Given the description of an element on the screen output the (x, y) to click on. 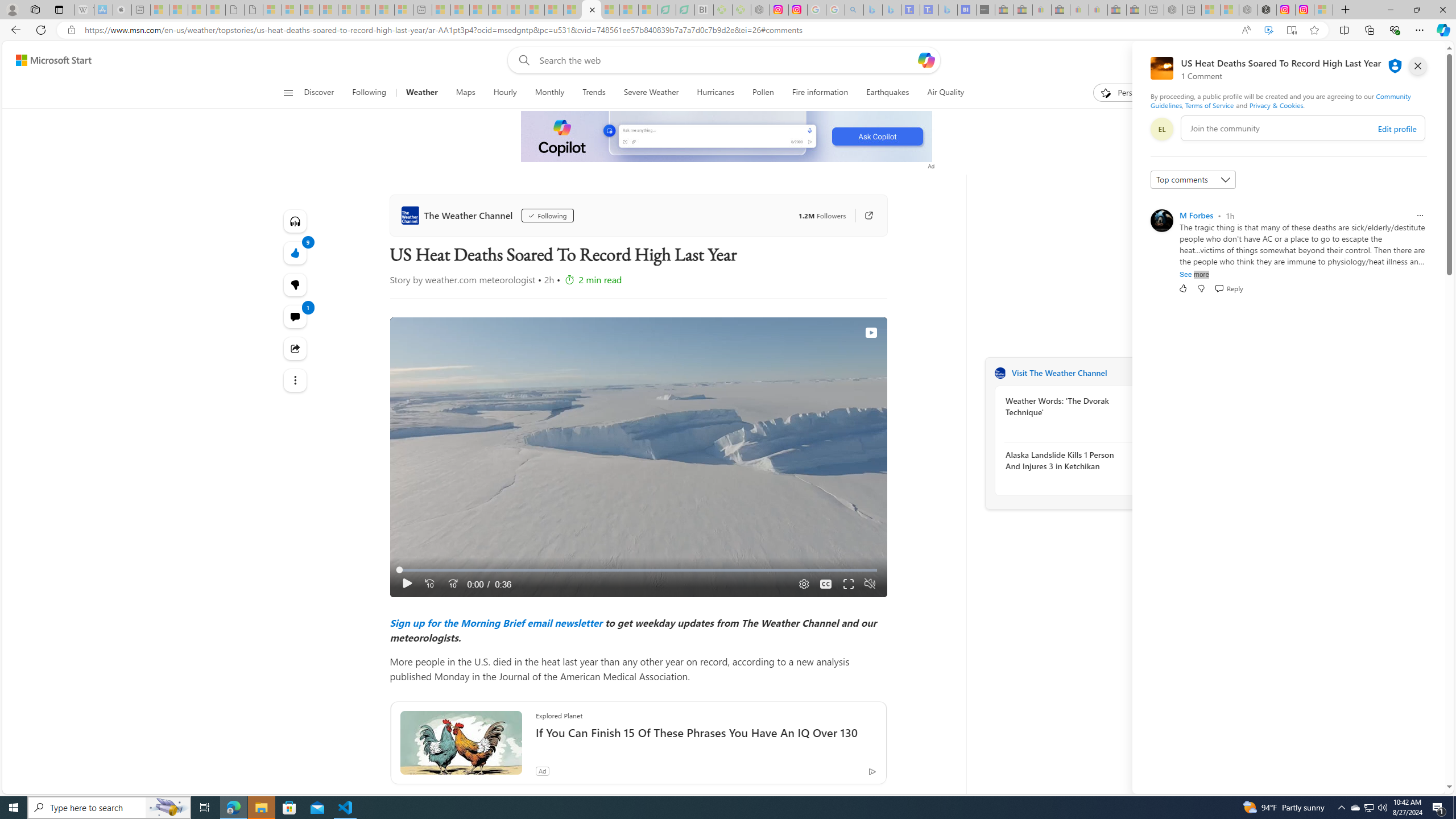
Seek Forward (452, 583)
alabama high school quarterback dies - Search - Sleeping (853, 9)
Class: button-glyph (287, 92)
Hurricanes (715, 92)
Unmute (868, 583)
The Weather Channel (1000, 372)
Weather (421, 92)
Play (406, 583)
View comments 1 Comment (295, 316)
Enhance video (1268, 29)
Hurricanes (716, 92)
